Given the description of an element on the screen output the (x, y) to click on. 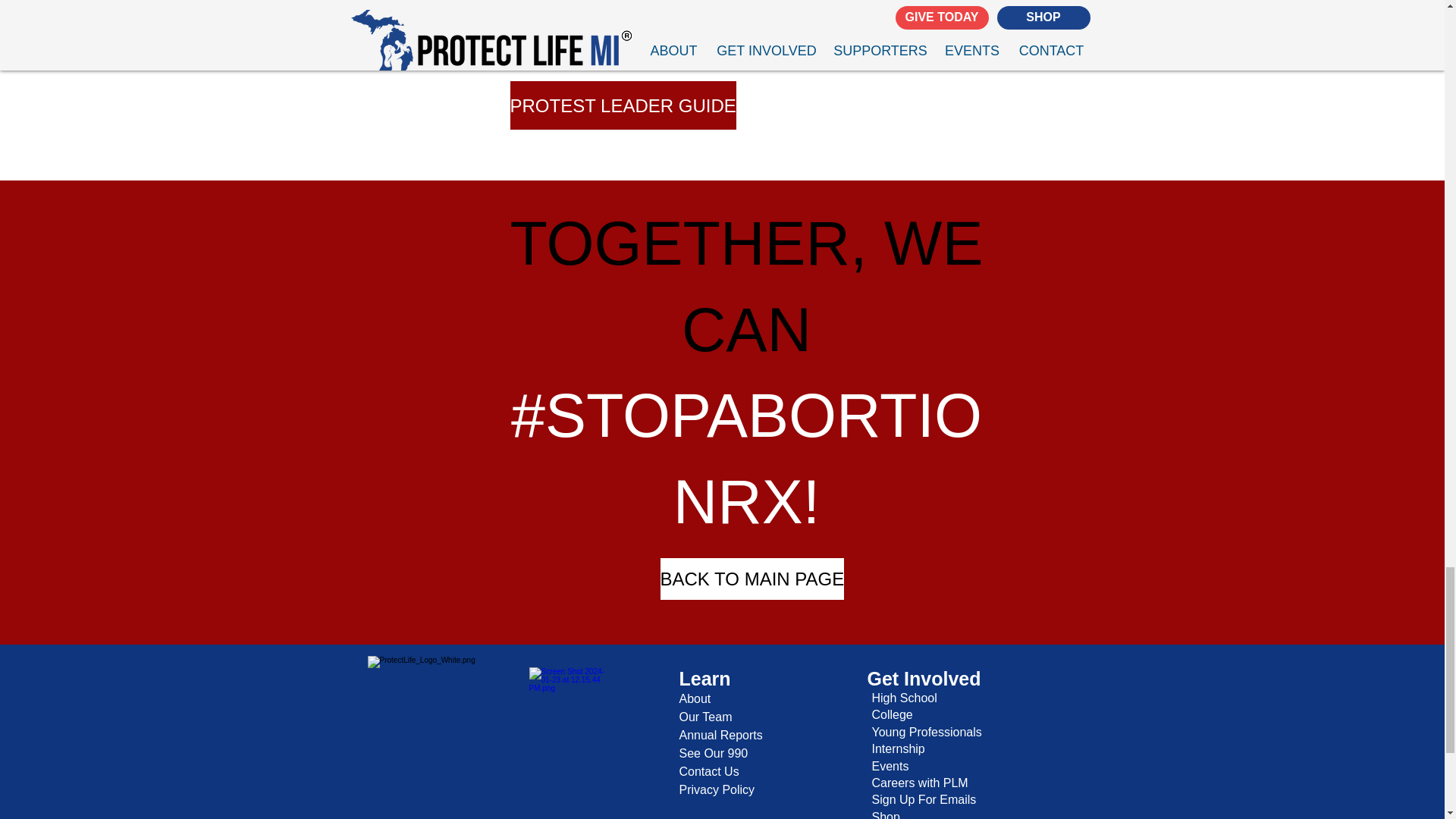
BACK TO MAIN PAGE (751, 578)
See Our 990 (713, 753)
High School (904, 697)
About (695, 698)
Privacy Policy (717, 789)
Contact Us (709, 771)
Our Team (705, 716)
PROTEST LEADER GUIDE (622, 105)
Annual Reports (720, 735)
